Given the description of an element on the screen output the (x, y) to click on. 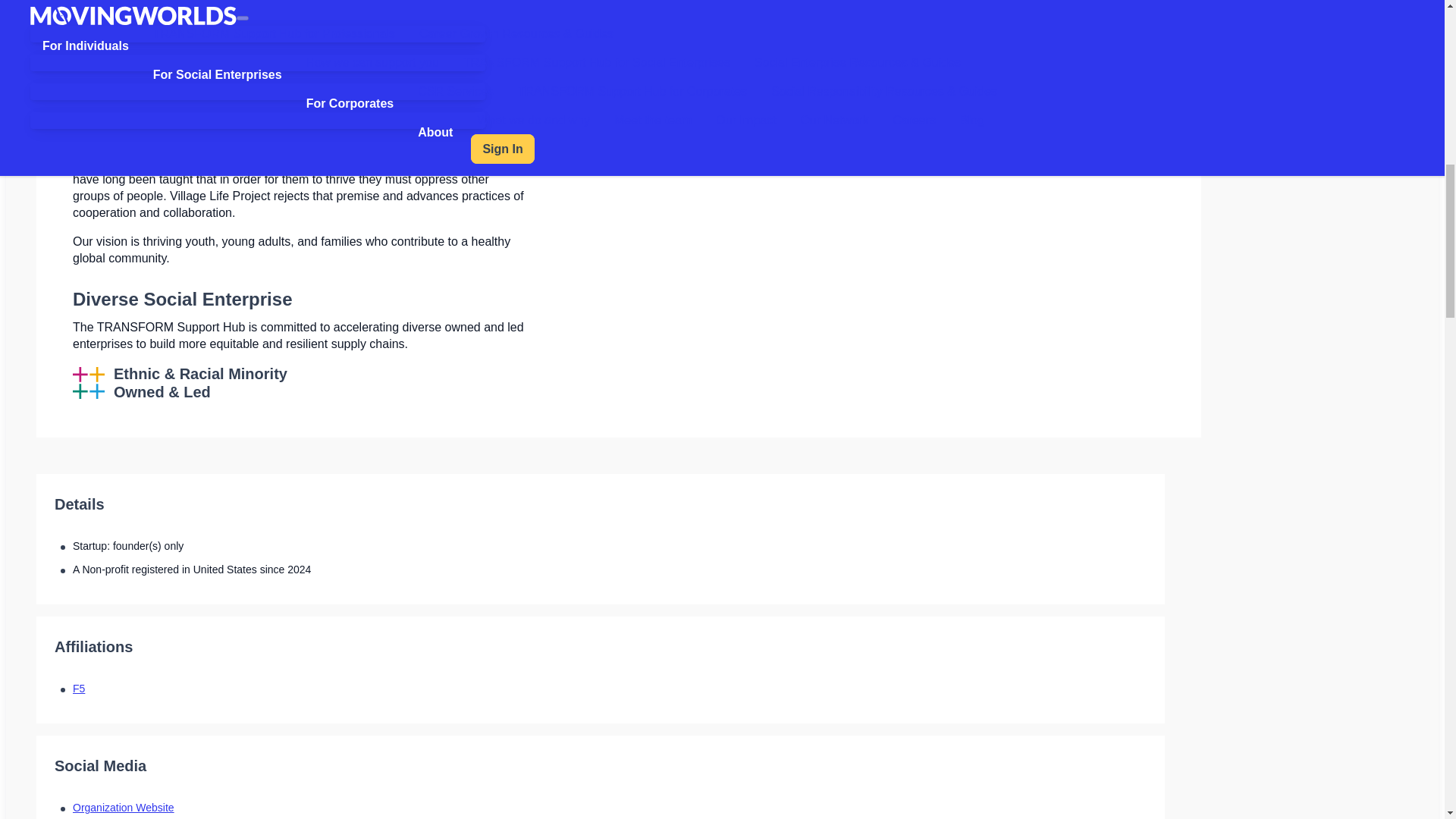
F5 (78, 688)
Organization Website (123, 807)
